Given the description of an element on the screen output the (x, y) to click on. 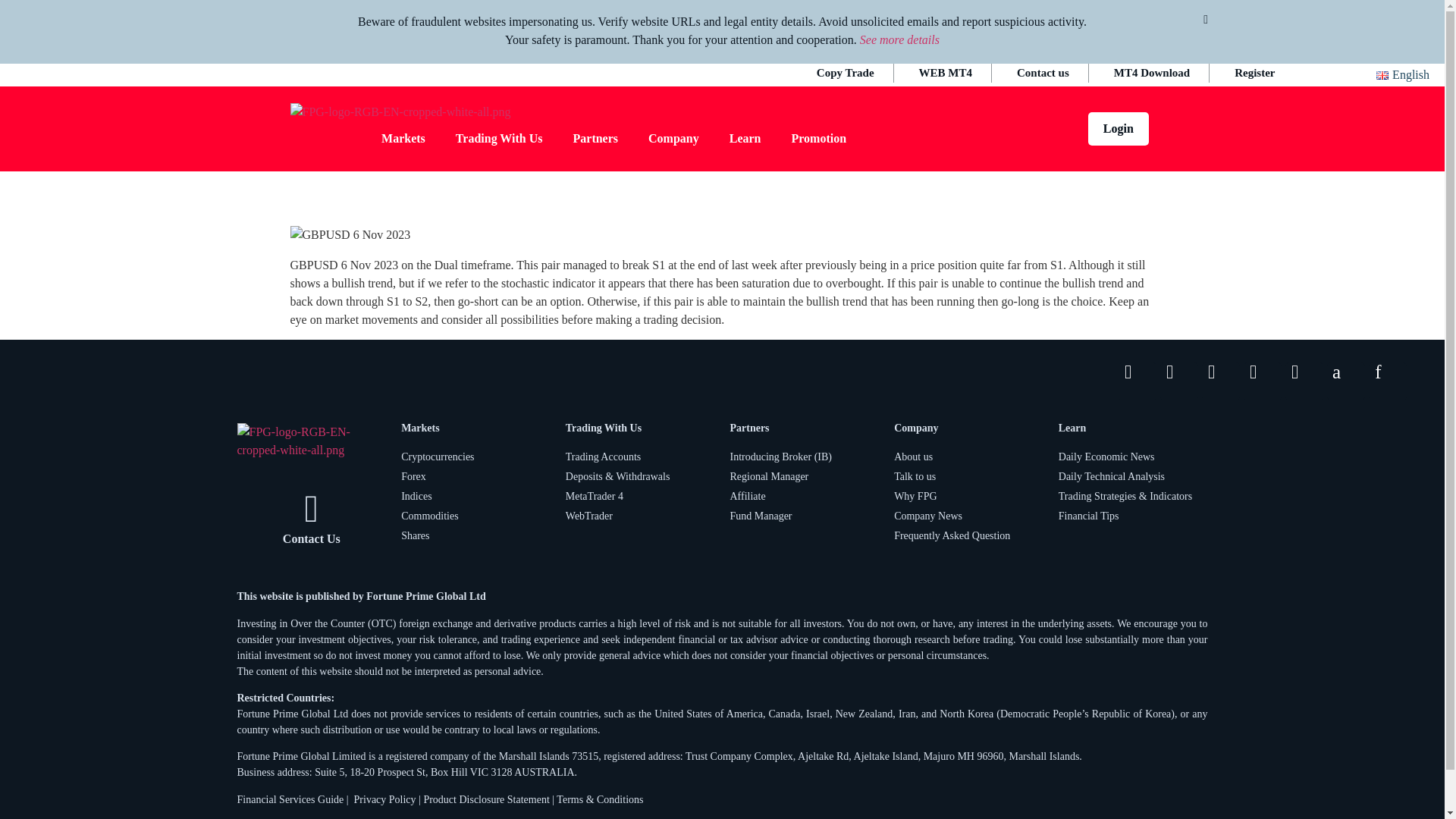
Contact us (1043, 72)
Partners (595, 138)
Markets (403, 138)
Copy Trade (845, 72)
Company (673, 138)
Promotion (818, 138)
MT4 Download (1151, 72)
Register (1254, 72)
Learn (745, 138)
Trading With Us (499, 138)
